Given the description of an element on the screen output the (x, y) to click on. 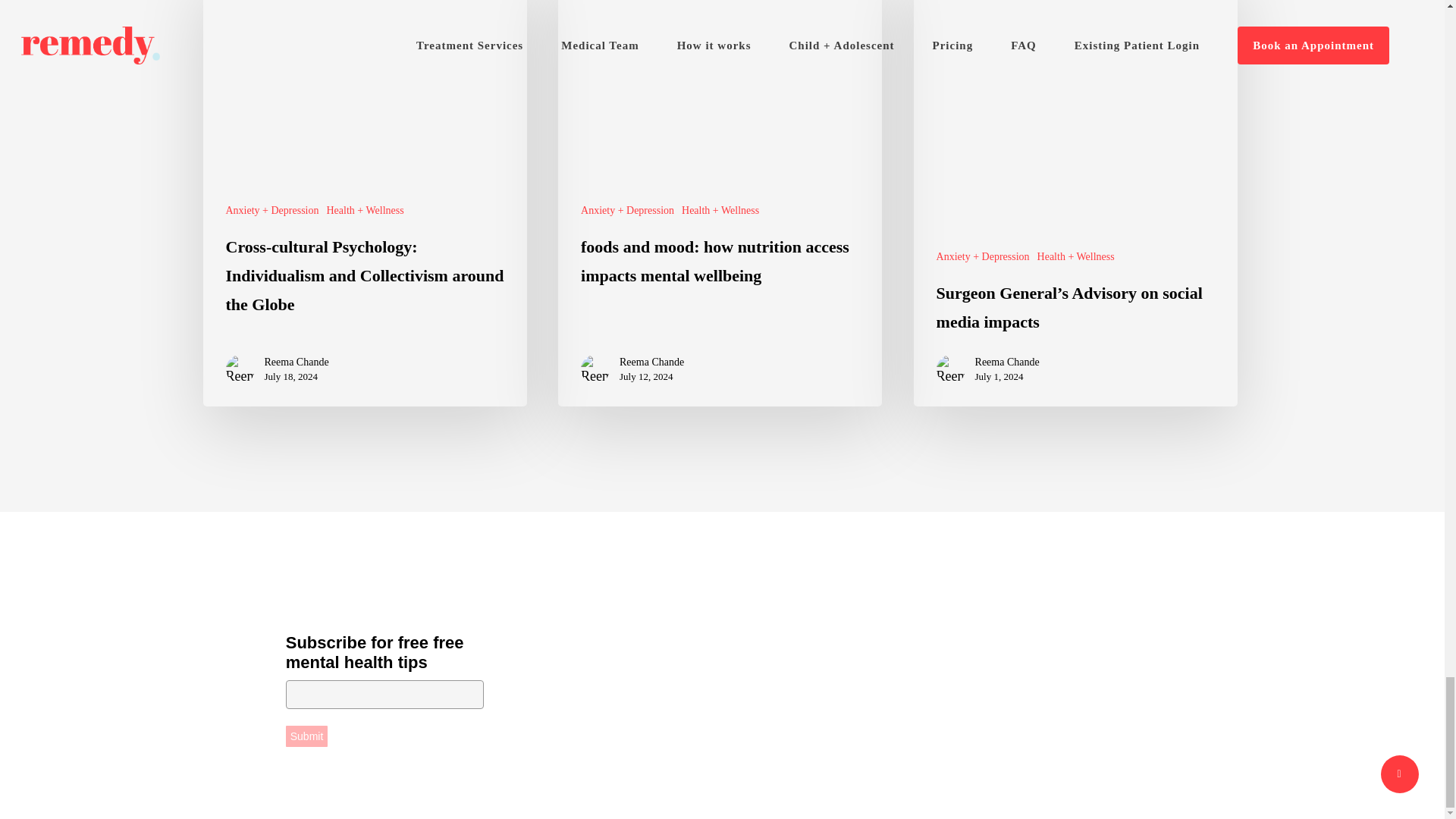
Reema Chande (296, 362)
Reema Chande (652, 362)
